Given the description of an element on the screen output the (x, y) to click on. 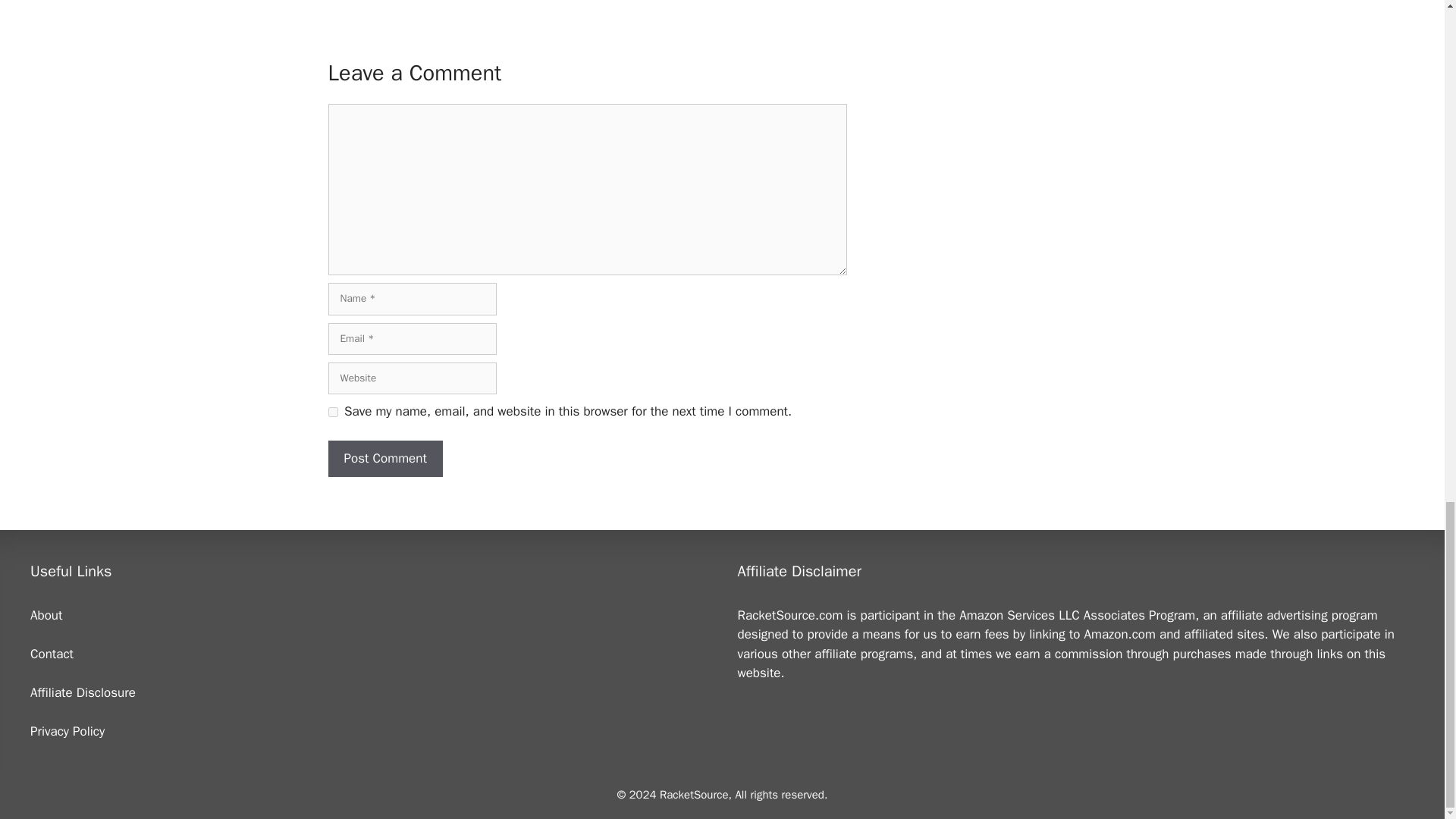
About (46, 615)
Post Comment (384, 458)
Post Comment (384, 458)
Privacy Policy (67, 731)
Affiliate Disclosure (82, 692)
yes (332, 411)
Contact (52, 653)
